Given the description of an element on the screen output the (x, y) to click on. 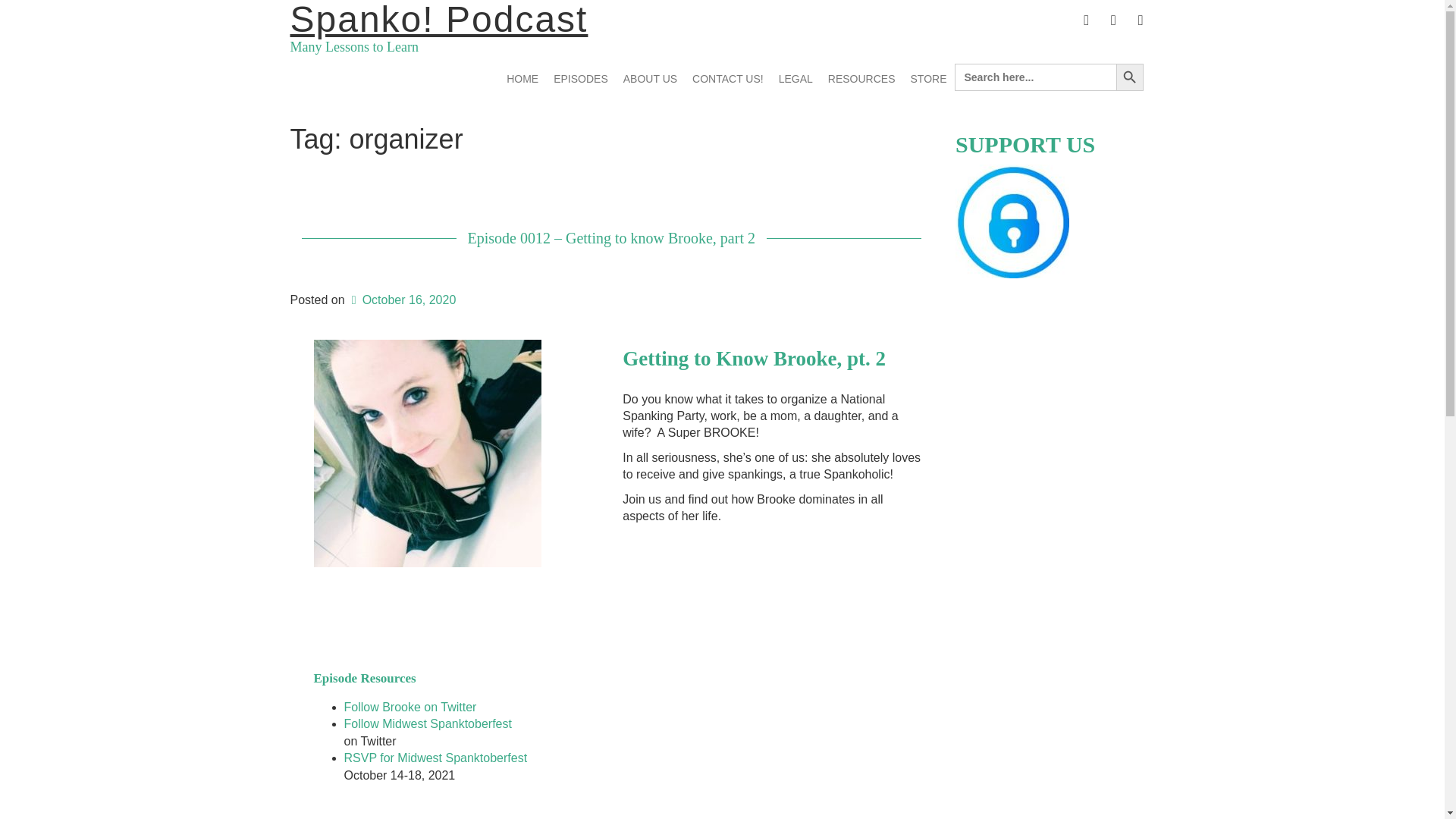
RSVP for Midwest Spanktoberfest (435, 757)
RESOURCES (861, 78)
Spanko! Podcast (438, 19)
October 16, 2020 (401, 299)
SUPPORT US (1011, 221)
HOME (522, 78)
YOUTUBE (1140, 19)
INSTAGRAM (1112, 19)
STORE (928, 78)
TWITTER (1086, 19)
